Given the description of an element on the screen output the (x, y) to click on. 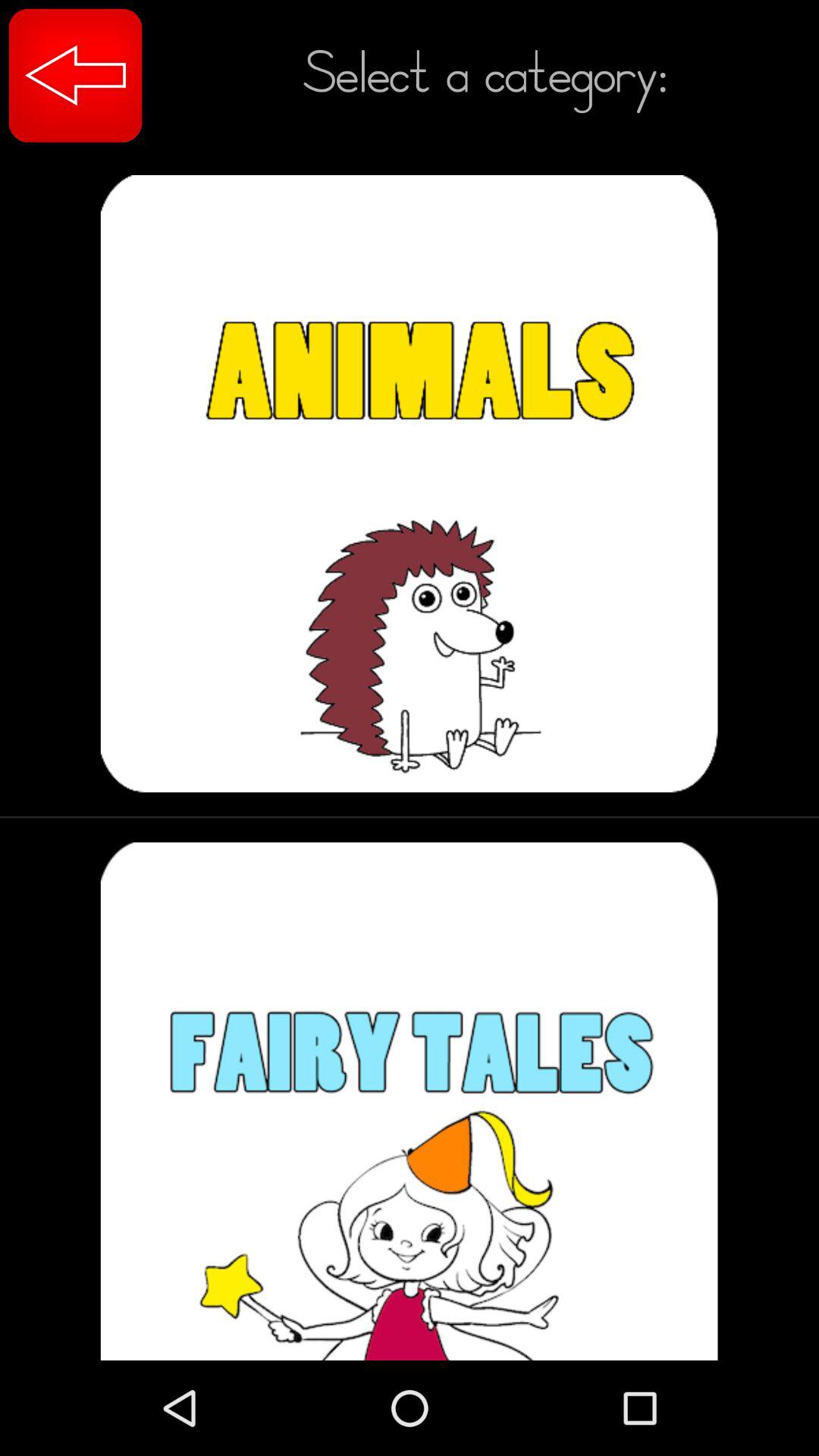
click the app to the left of select a category: item (75, 75)
